Given the description of an element on the screen output the (x, y) to click on. 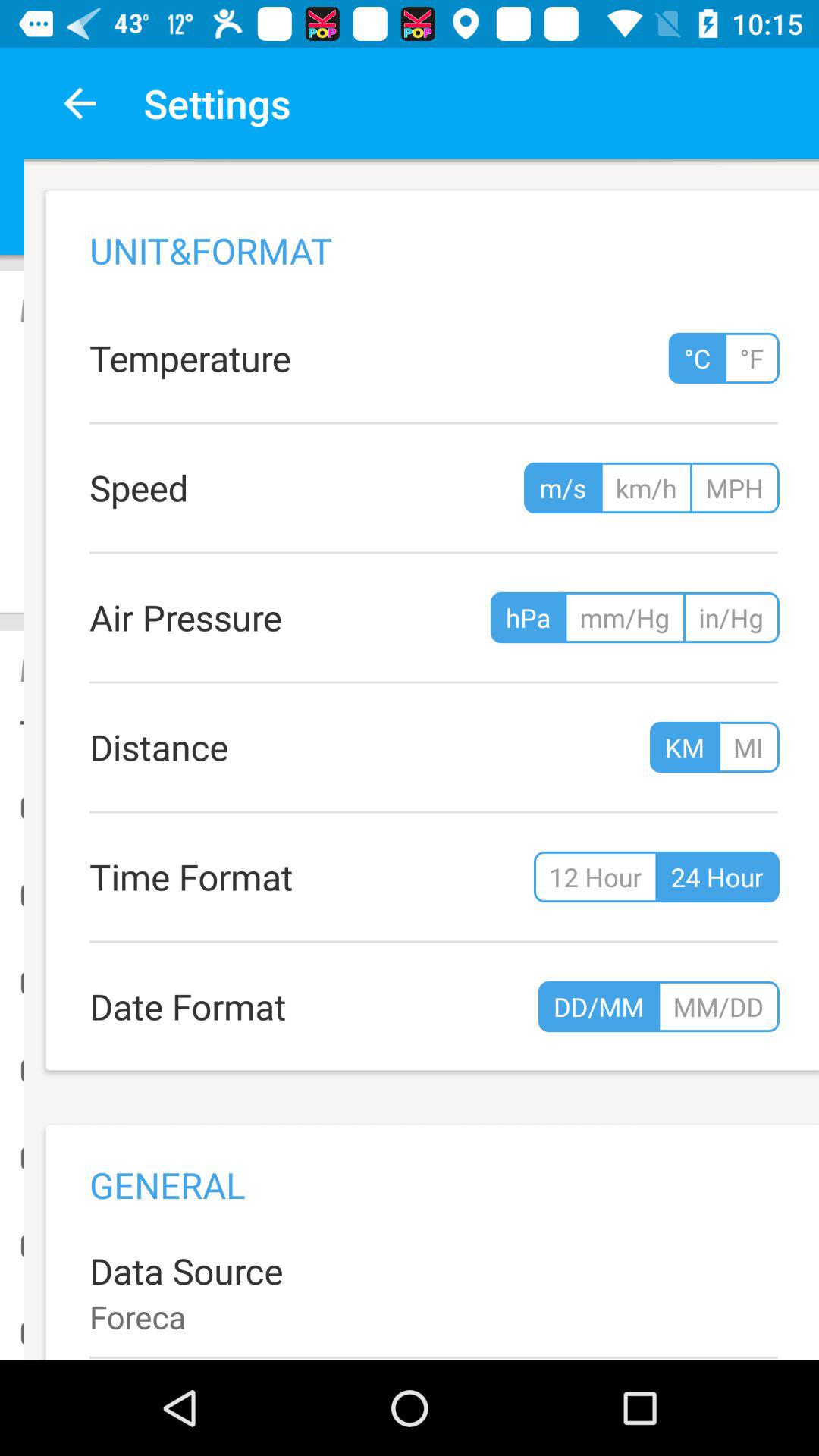
select ddmm (575, 1006)
